Given the description of an element on the screen output the (x, y) to click on. 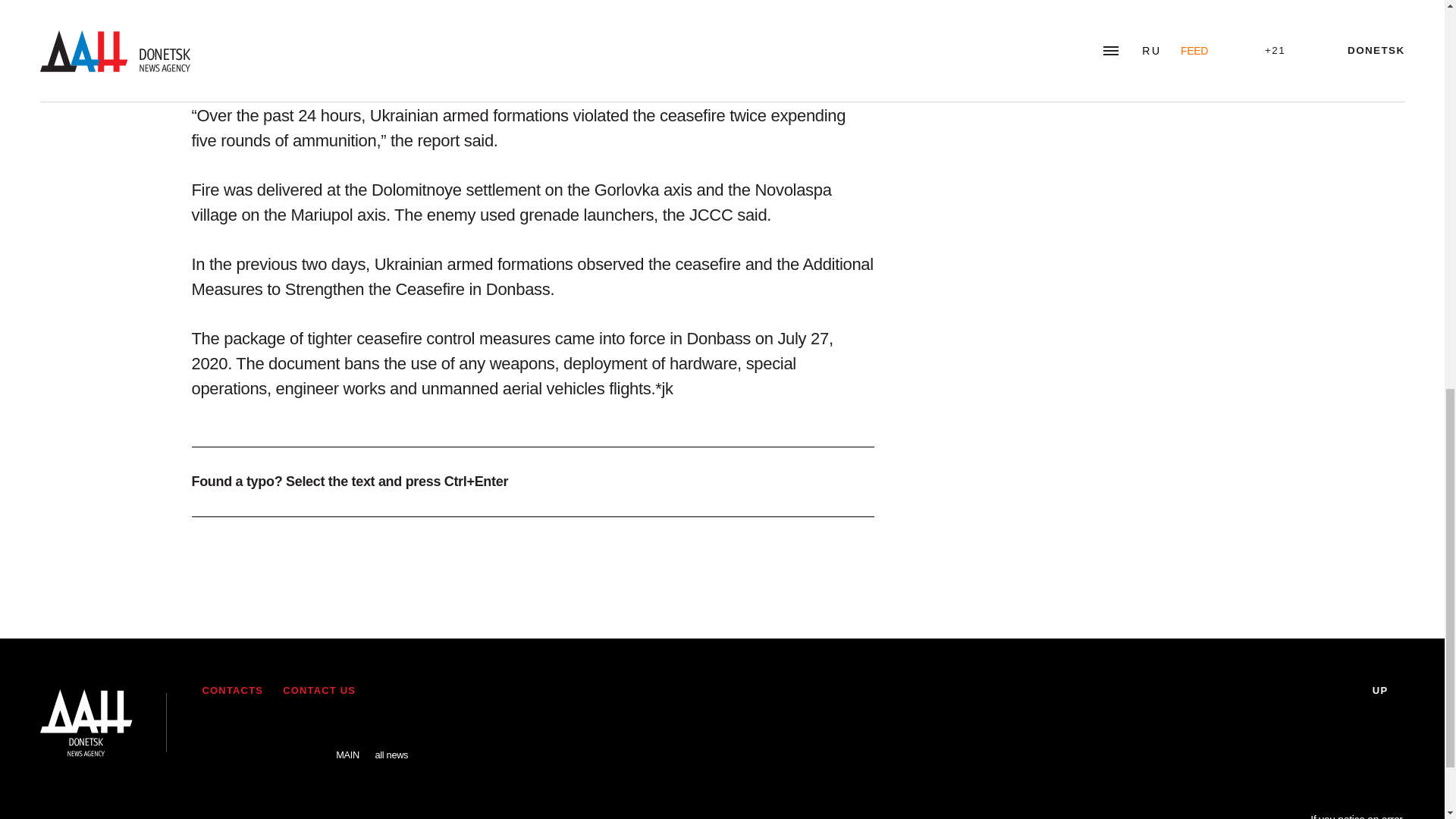
CONTACTS (232, 690)
VKontakte (262, 730)
UP (1389, 690)
UP (1389, 690)
all news (390, 743)
RSS (217, 730)
Odnoklassniki (304, 730)
